Given the description of an element on the screen output the (x, y) to click on. 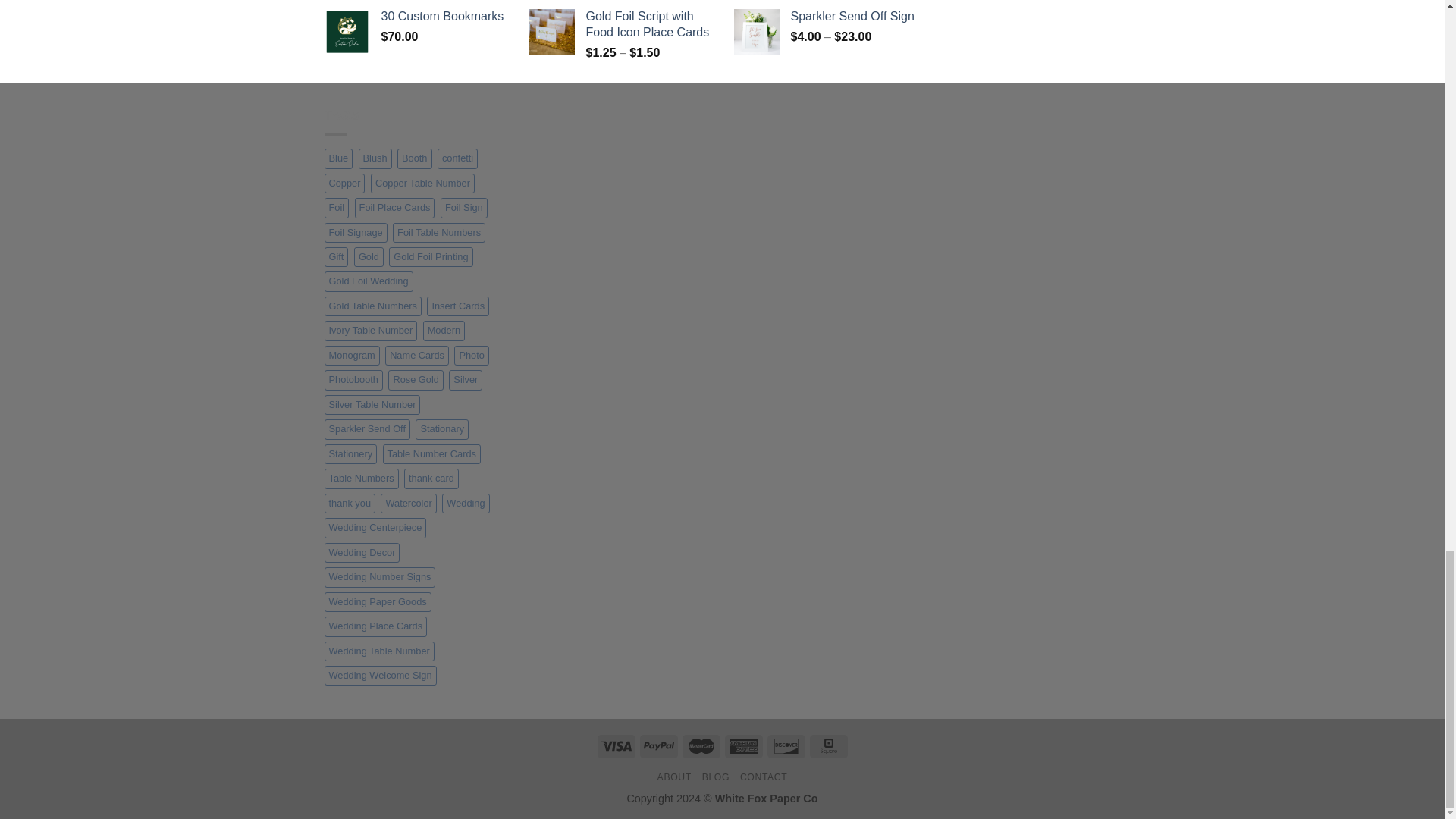
Booth (413, 158)
30 Custom Bookmarks (442, 17)
Blush (374, 158)
Gold Foil Script with Food Icon Place Cards (647, 24)
confetti (457, 158)
Copper Table Number (422, 183)
Copper (344, 183)
Blue (338, 158)
Sparkler Send Off Sign (852, 17)
